Given the description of an element on the screen output the (x, y) to click on. 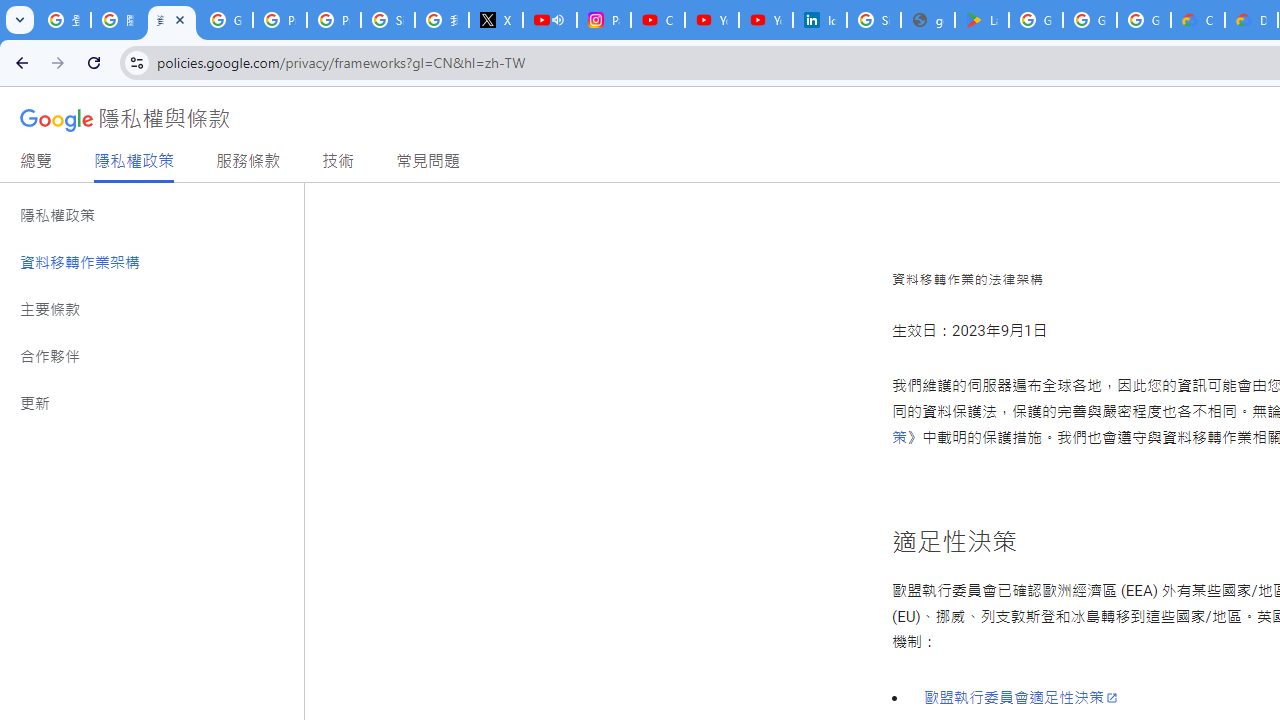
YouTube Culture & Trends - YouTube Top 10, 2021 (765, 20)
Privacy Help Center - Policies Help (333, 20)
Privacy Help Center - Policies Help (280, 20)
Last Shelter: Survival - Apps on Google Play (981, 20)
Sign in - Google Accounts (387, 20)
